Given the description of an element on the screen output the (x, y) to click on. 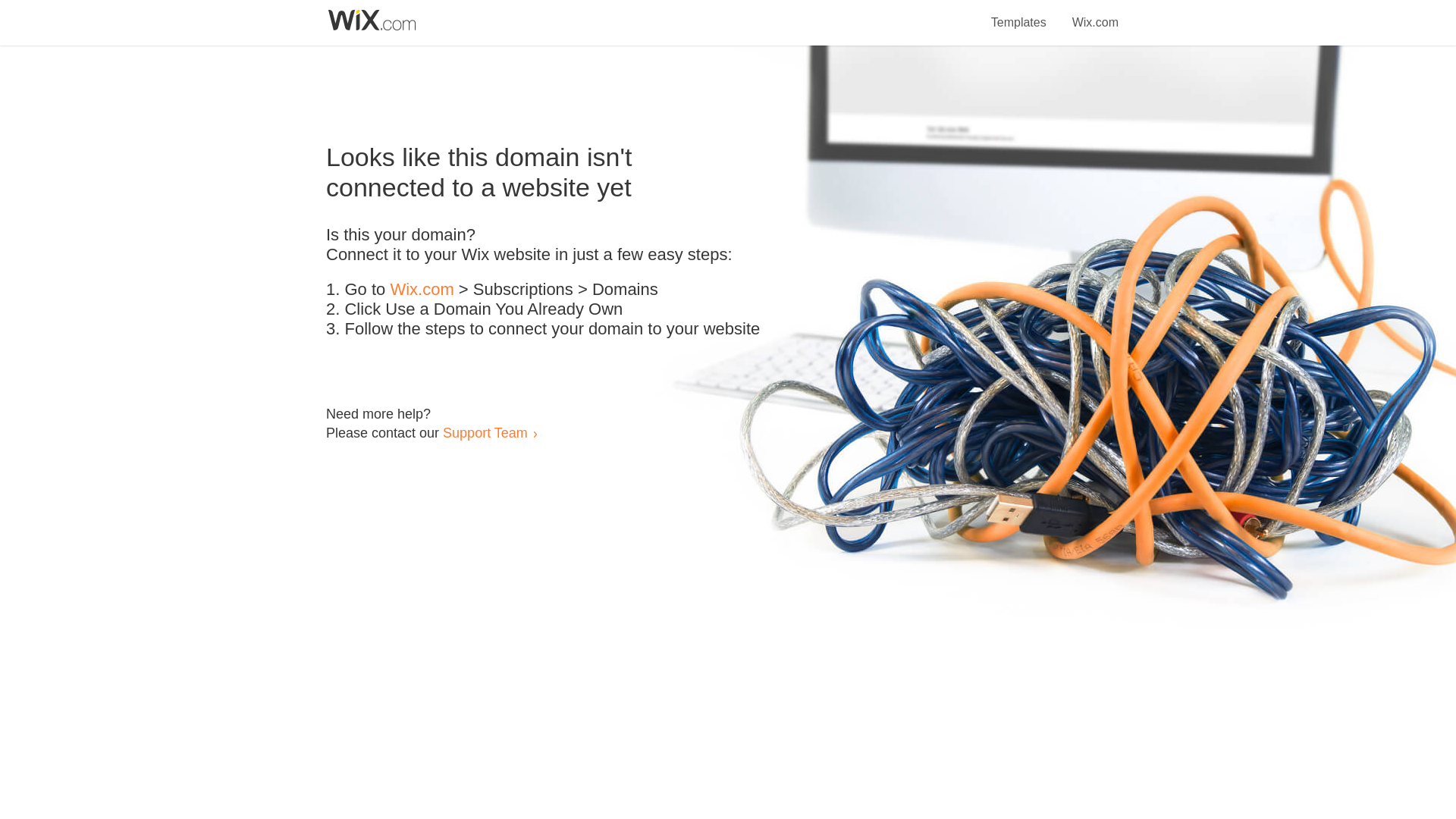
Wix.com (1095, 14)
Templates (1018, 14)
Wix.com (421, 289)
Support Team (484, 432)
